Given the description of an element on the screen output the (x, y) to click on. 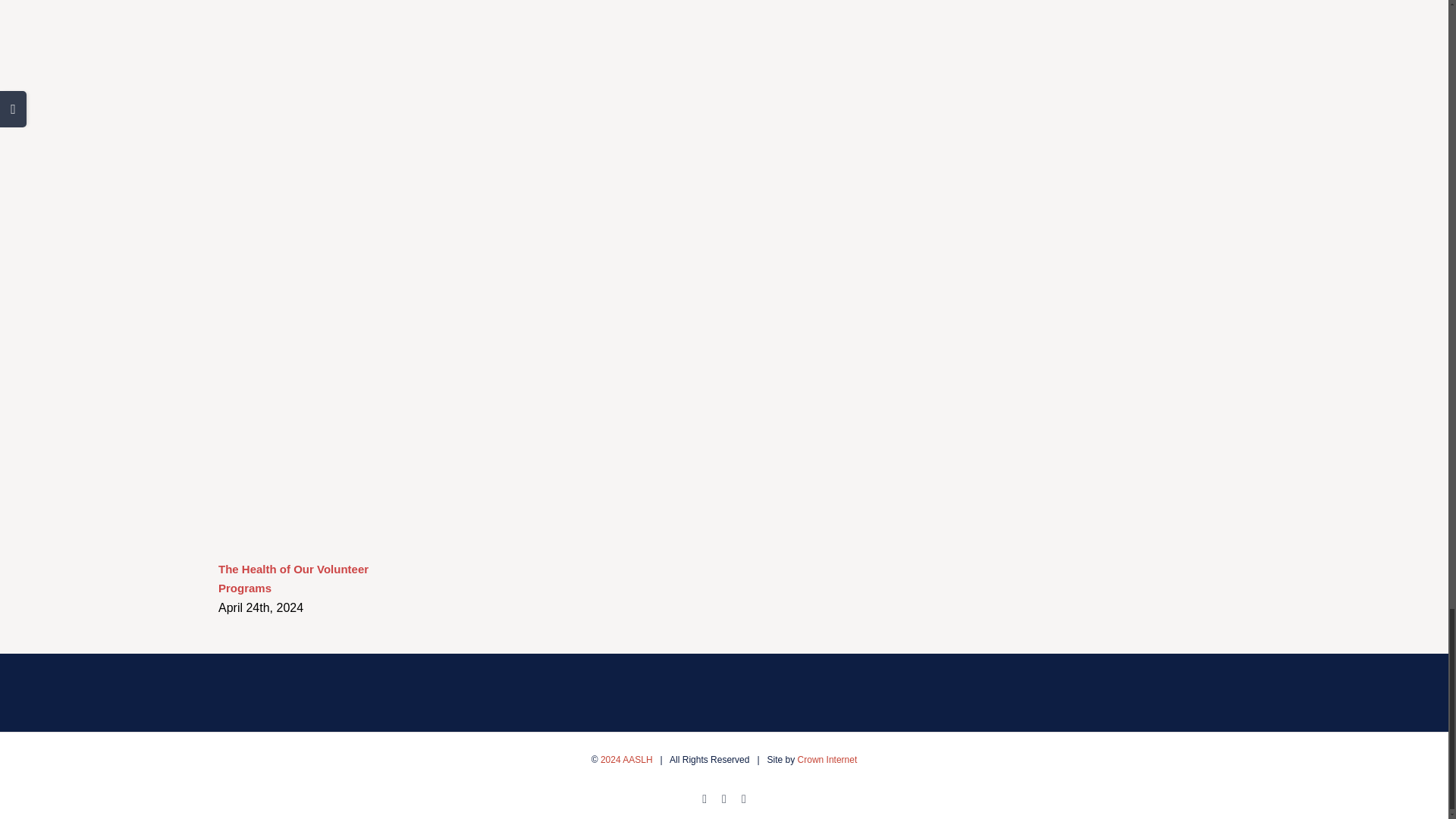
The Health of Our Volunteer Programs (293, 578)
